Given the description of an element on the screen output the (x, y) to click on. 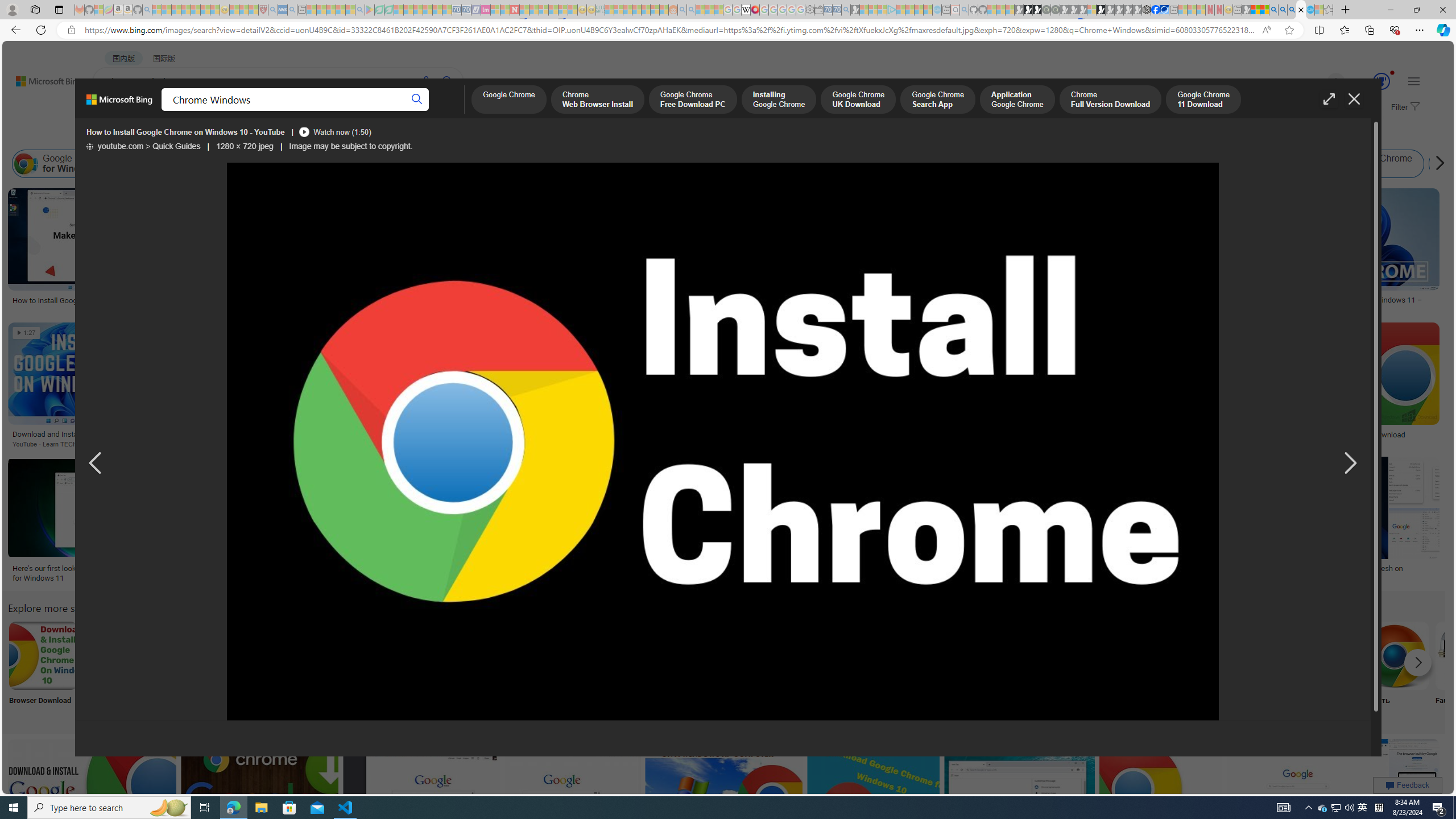
Chrome Search Bar (868, 654)
Google Chrome Free Download PC (691, 100)
Internet-Browser Download (1093, 669)
Chrome Icon.png Icon.png (493, 669)
Favorites (1344, 29)
Installing Google Chrome (483, 163)
About Google (342, 669)
WEB (114, 111)
Free Download (1169, 669)
How to Install Google Chrome on Windows 10 - YouTube (185, 132)
